Given the description of an element on the screen output the (x, y) to click on. 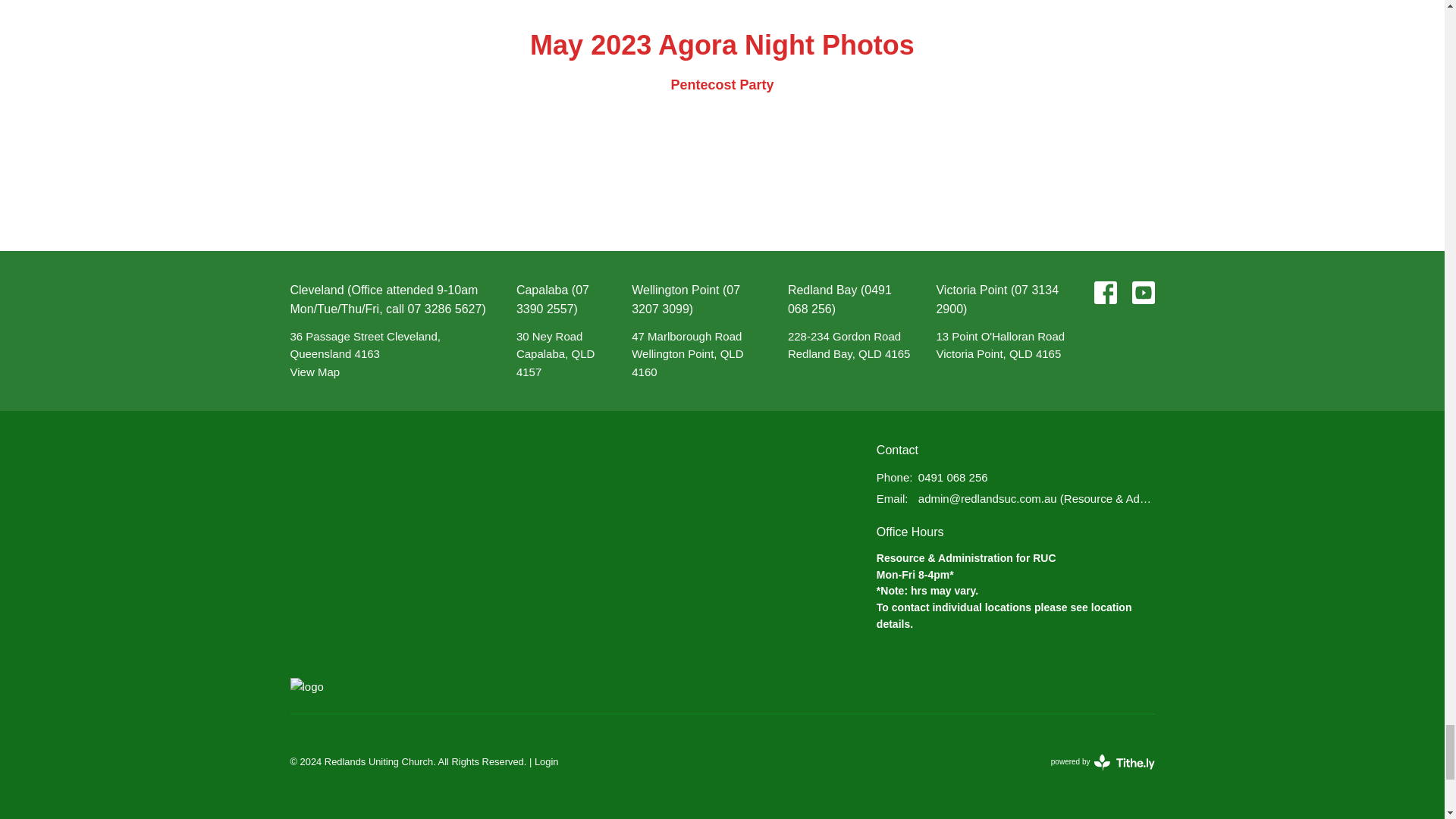
translation missing: en.ui.email (890, 498)
